Given the description of an element on the screen output the (x, y) to click on. 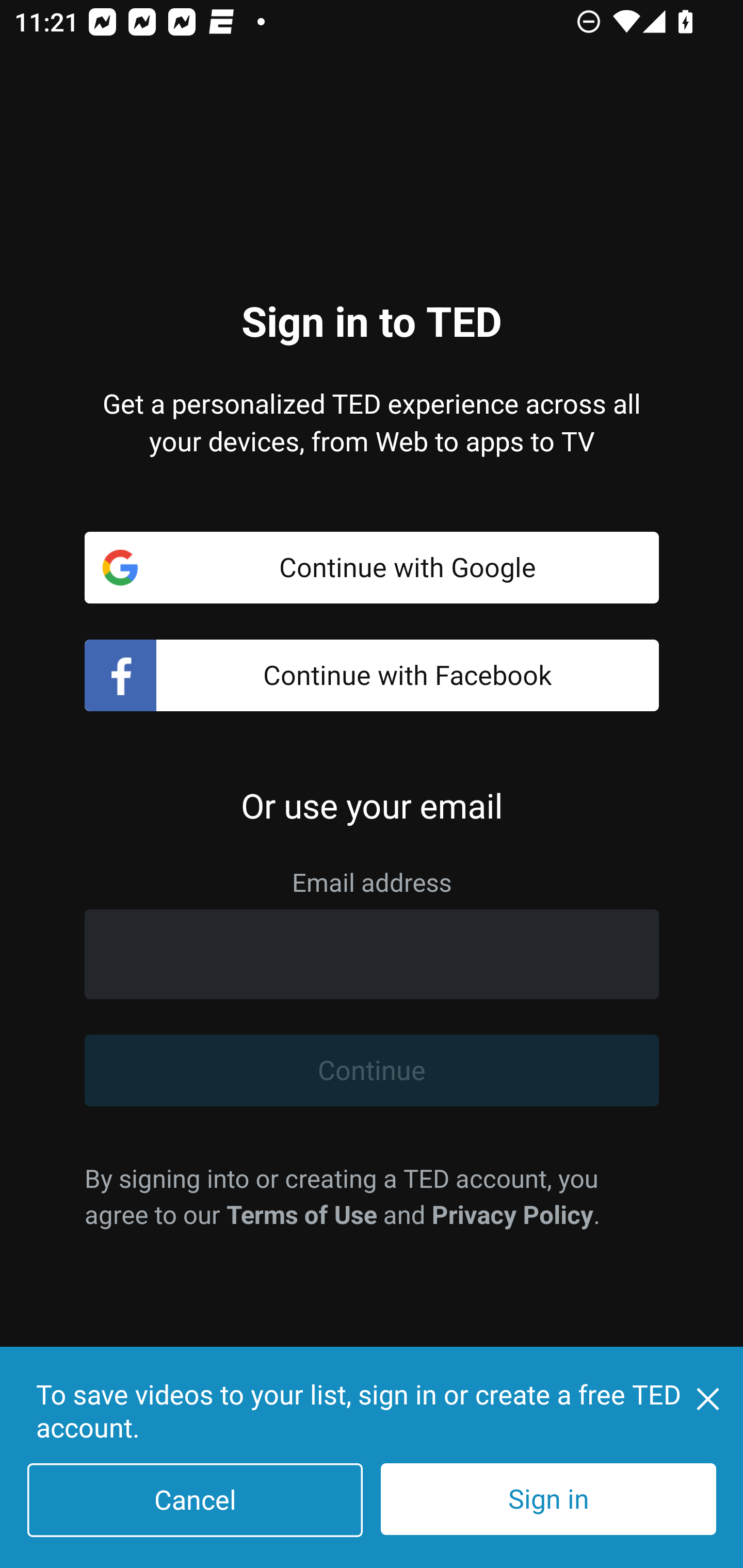
Continue with Google (371, 567)
Continue with Facebook (371, 675)
Continue (371, 1070)
Cancel (194, 1499)
Sign in (548, 1498)
